Given the description of an element on the screen output the (x, y) to click on. 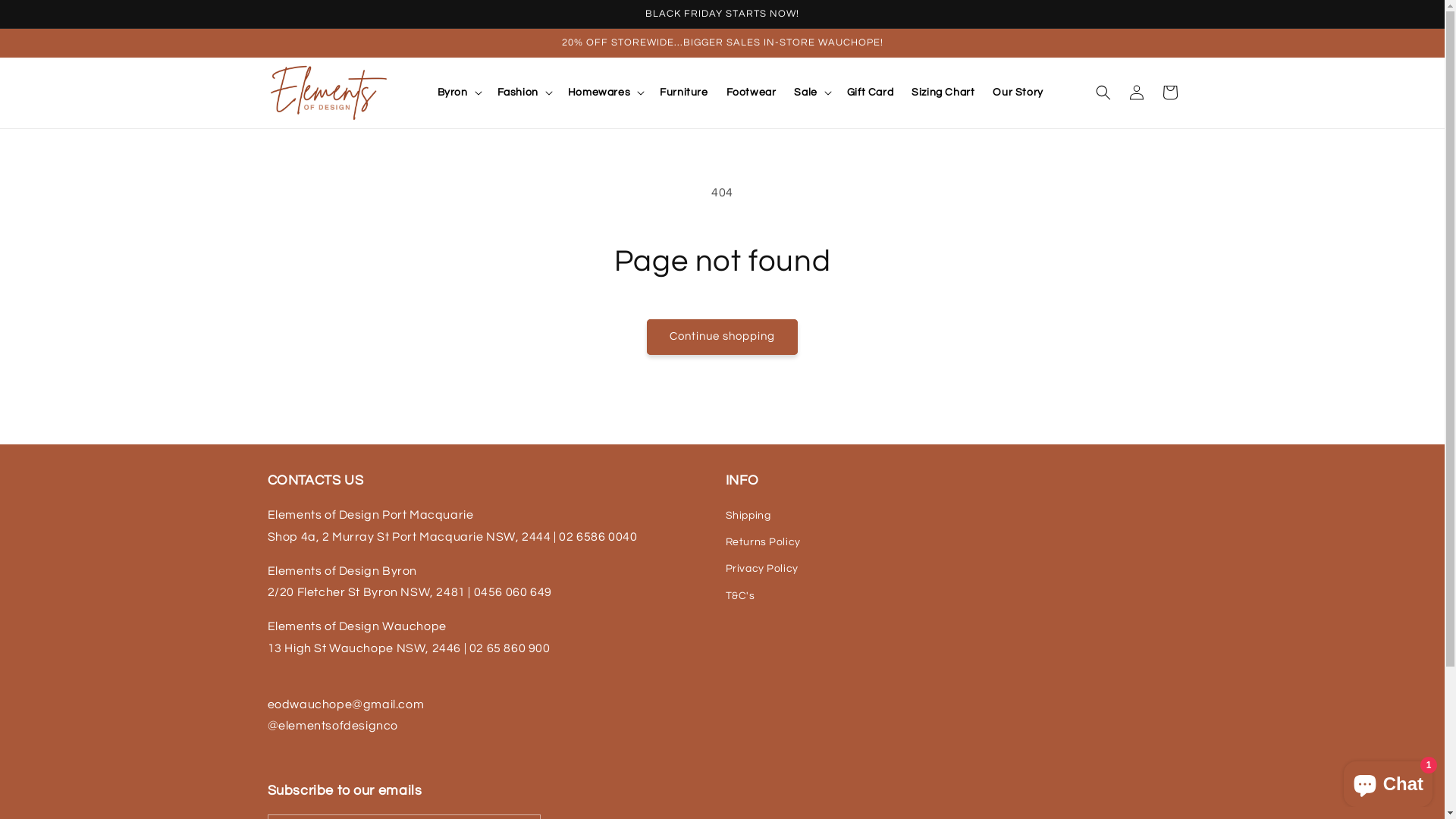
Our Story Element type: text (1017, 92)
Furniture Element type: text (683, 92)
Continue shopping Element type: text (721, 336)
Footwear Element type: text (751, 92)
Shopify online store chat Element type: hover (1388, 780)
Sizing Chart Element type: text (942, 92)
Gift Card Element type: text (869, 92)
T&C's Element type: text (739, 596)
Returns Policy Element type: text (762, 542)
Privacy Policy Element type: text (760, 568)
Log in Element type: text (1135, 92)
Cart Element type: text (1169, 92)
Shipping Element type: text (747, 517)
